Given the description of an element on the screen output the (x, y) to click on. 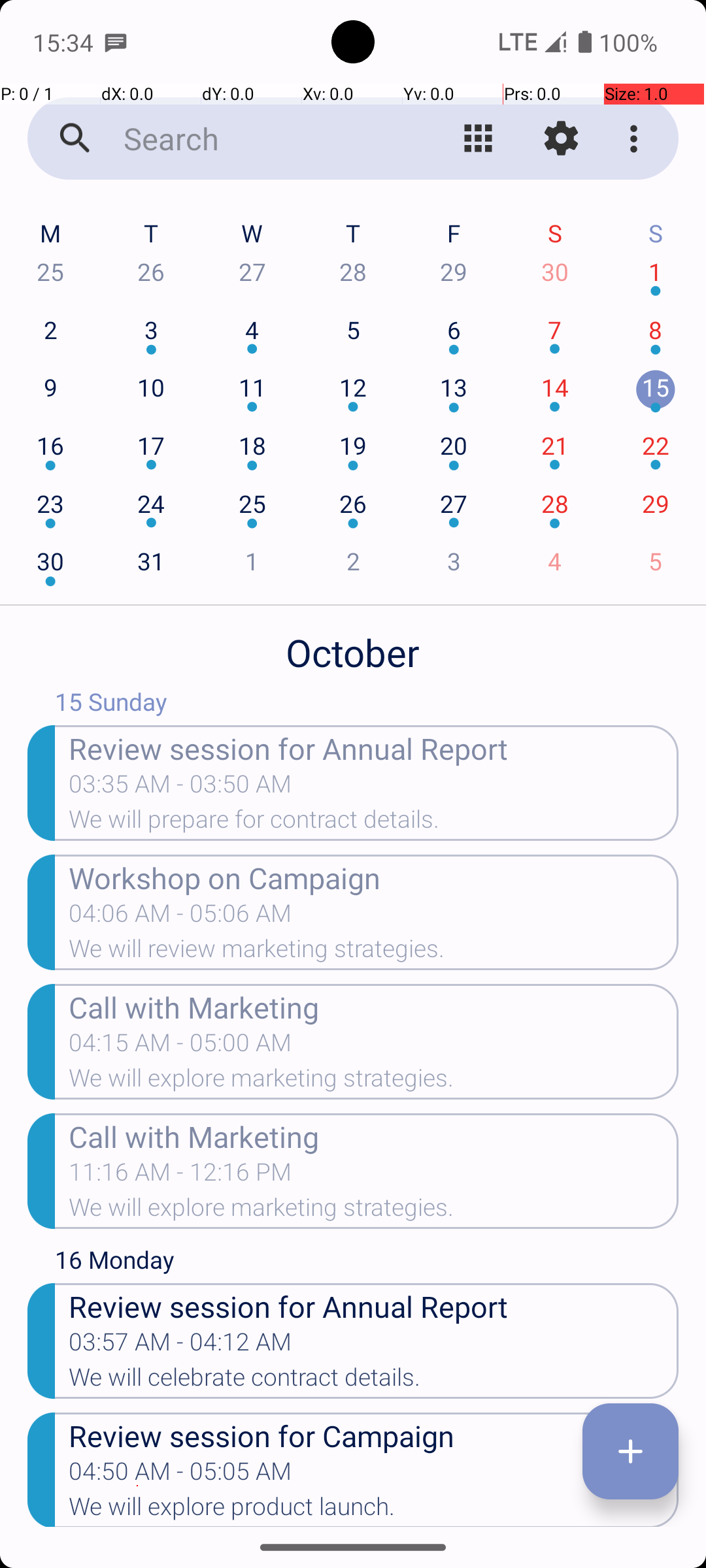
03:35 AM - 03:50 AM Element type: android.widget.TextView (179, 787)
We will prepare for contract details. Element type: android.widget.TextView (373, 822)
04:06 AM - 05:06 AM Element type: android.widget.TextView (179, 916)
We will review marketing strategies. Element type: android.widget.TextView (373, 952)
04:15 AM - 05:00 AM Element type: android.widget.TextView (179, 1046)
We will explore marketing strategies. Element type: android.widget.TextView (373, 1081)
11:16 AM - 12:16 PM Element type: android.widget.TextView (179, 1175)
03:57 AM - 04:12 AM Element type: android.widget.TextView (179, 1345)
We will celebrate contract details. Element type: android.widget.TextView (373, 1380)
04:50 AM - 05:05 AM Element type: android.widget.TextView (179, 1474)
We will explore product launch. Element type: android.widget.TextView (373, 1509)
